Given the description of an element on the screen output the (x, y) to click on. 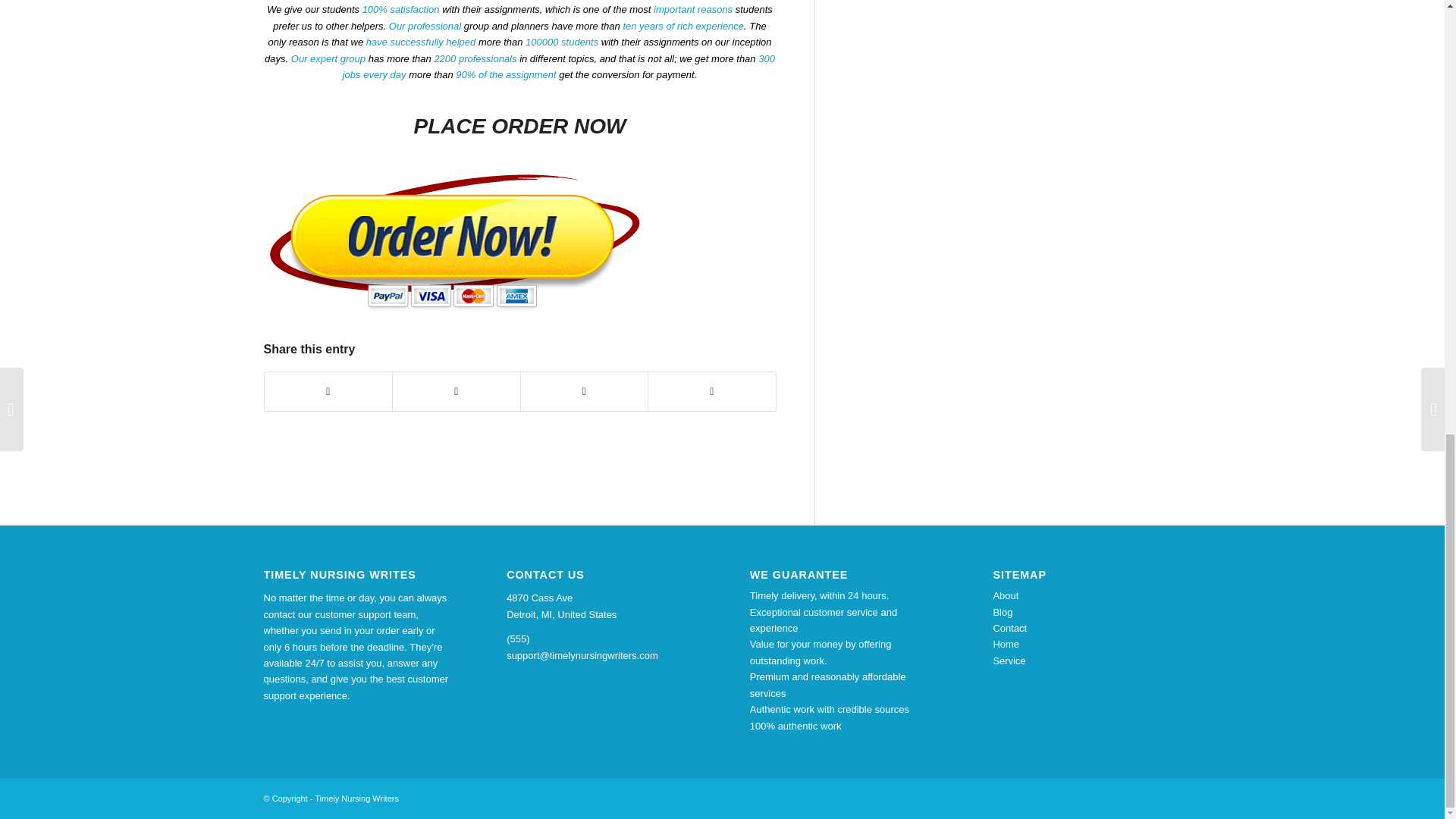
100000 students (561, 41)
important reasons (692, 9)
300 jobs every day (558, 66)
Our expert group (328, 58)
PLACE ORDER NOW (519, 126)
Our professional (424, 25)
have successfully helped (421, 41)
2200 professionals (474, 58)
ten years of rich experience (683, 25)
